Given the description of an element on the screen output the (x, y) to click on. 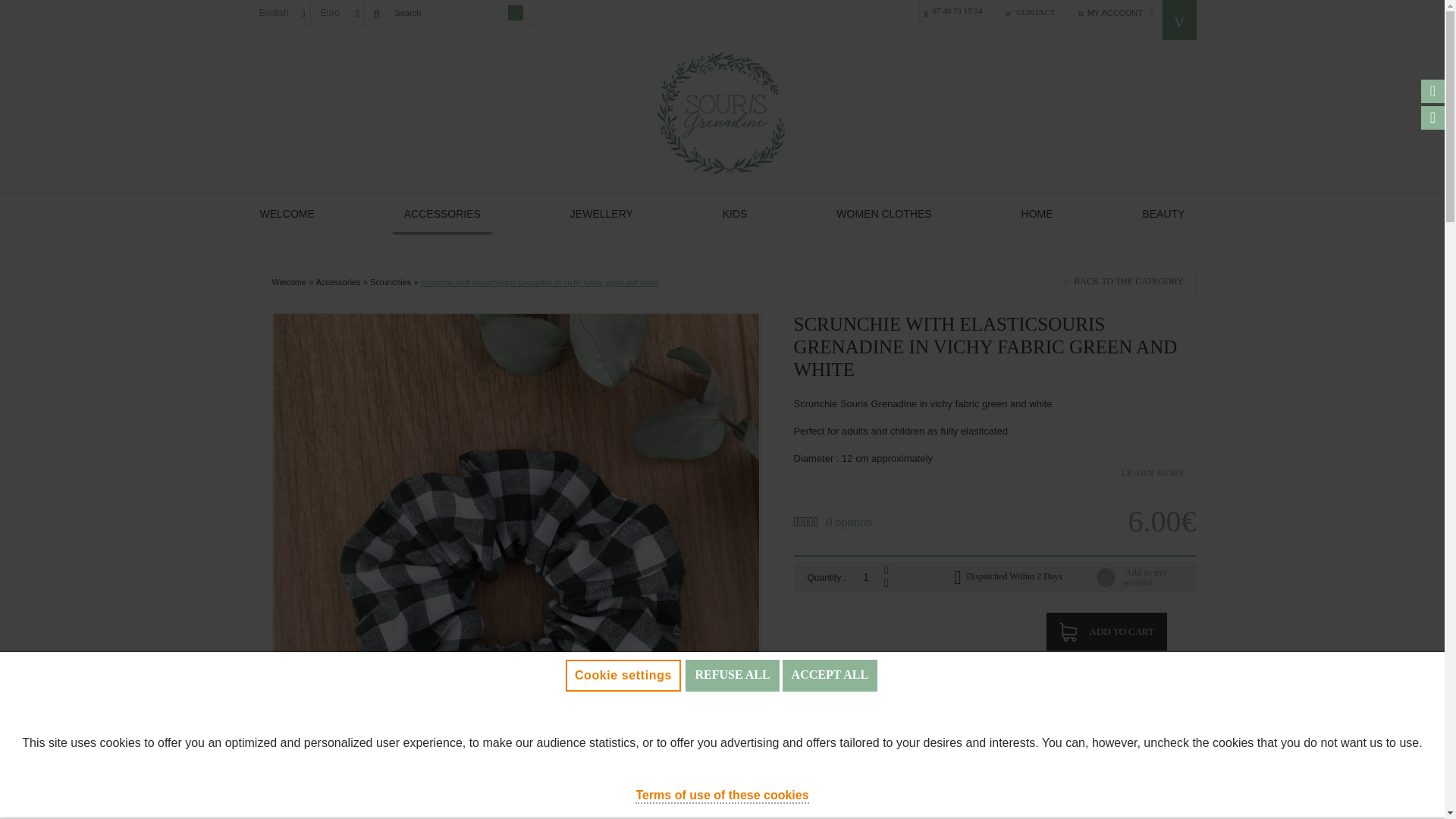
KIDS (734, 213)
MY ACCOUNT (1113, 12)
JEWELLERY (602, 213)
1 (863, 576)
Scrunchies (389, 281)
ACCESSORIES (442, 213)
Welcome (287, 281)
 Pay with Paypal  (1120, 669)
logo-sourisgrenadine.fr (722, 114)
